Given the description of an element on the screen output the (x, y) to click on. 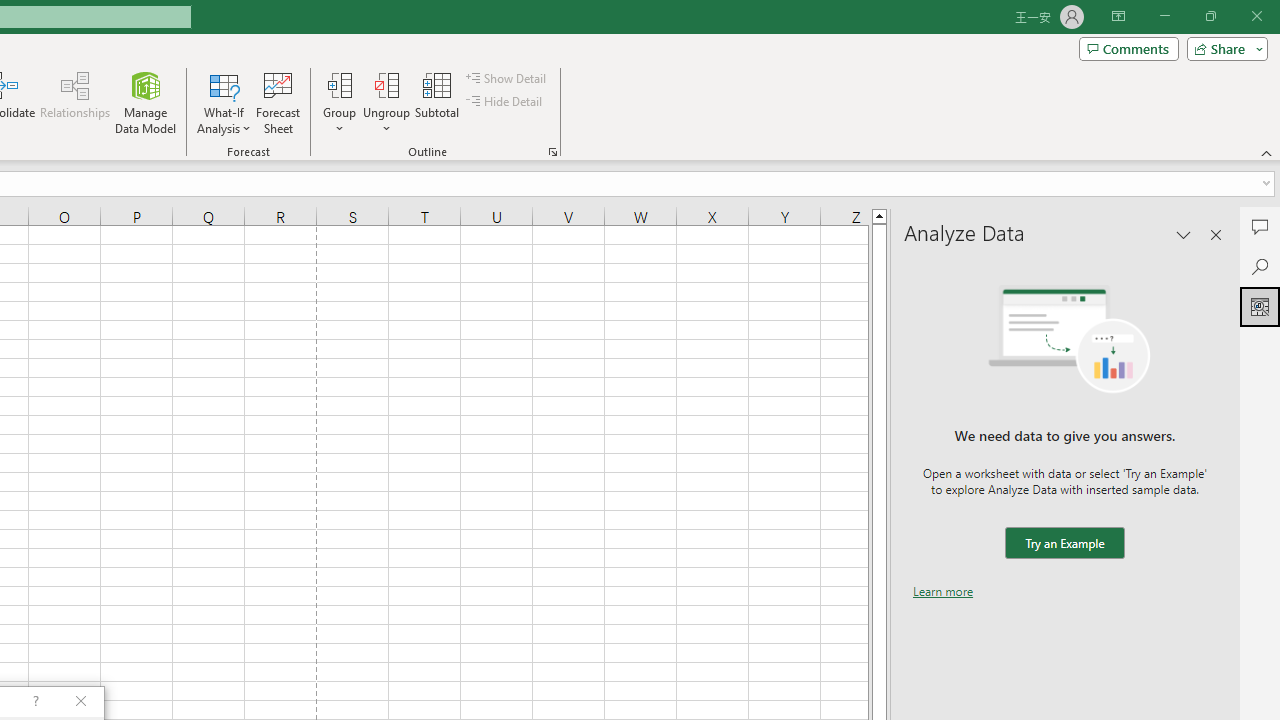
Hide Detail (505, 101)
We need data to give you answers. Try an Example (1064, 543)
Forecast Sheet (278, 102)
What-If Analysis (223, 102)
Subtotal (437, 102)
